Given the description of an element on the screen output the (x, y) to click on. 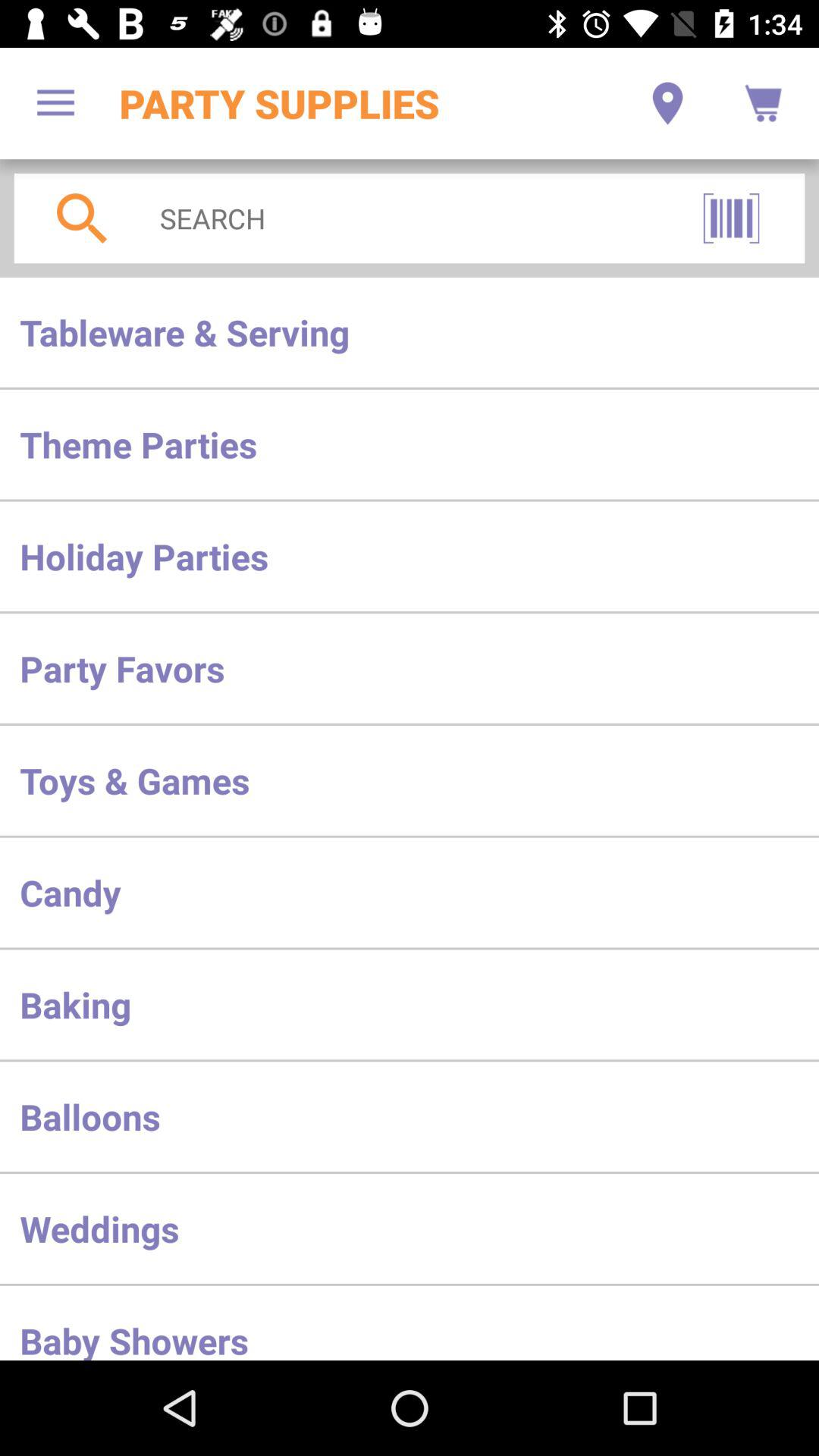
open the party favors item (409, 668)
